Given the description of an element on the screen output the (x, y) to click on. 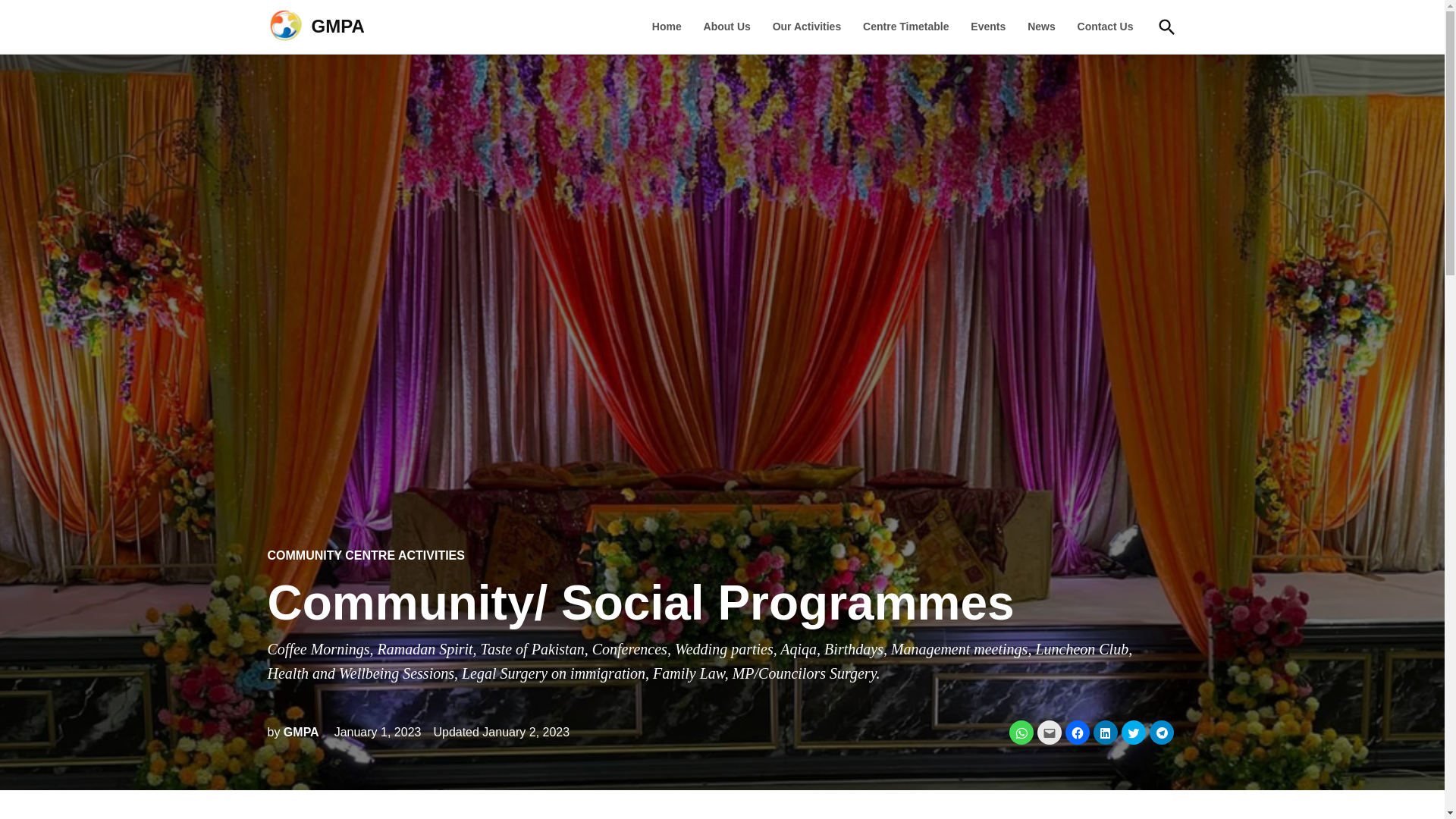
COMMUNITY CENTRE ACTIVITIES (365, 555)
Click to share on Email (1048, 732)
Click to share on LinkedIn (1105, 732)
News (1041, 26)
Centre Timetable (906, 26)
Events (987, 26)
GMPA (300, 731)
Click to share on Telegram (1161, 732)
Home (670, 26)
About Us (726, 26)
Click to share on WhatsApp (1020, 732)
Contact Us (1105, 26)
GMPA (337, 25)
Our Activities (806, 26)
Click to share on Twitter (1132, 732)
